Given the description of an element on the screen output the (x, y) to click on. 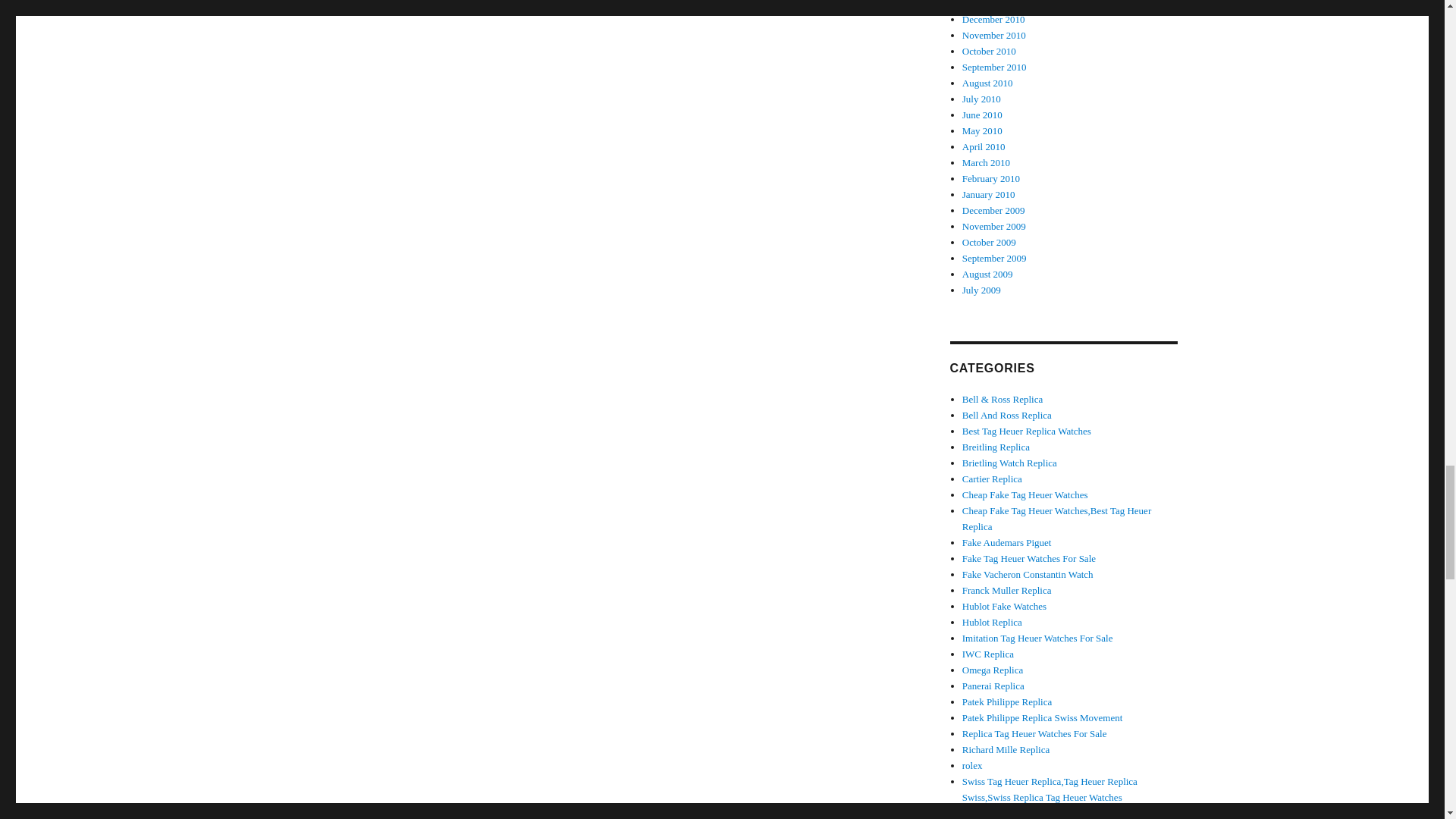
Fake Tag Heuer Watches For Sale (1029, 558)
Cheap Fake Tag Heuer Watches,Best Tag Heuer Replica (1056, 518)
Replica Tag Heuer Watches For Sale (1034, 733)
